Given the description of an element on the screen output the (x, y) to click on. 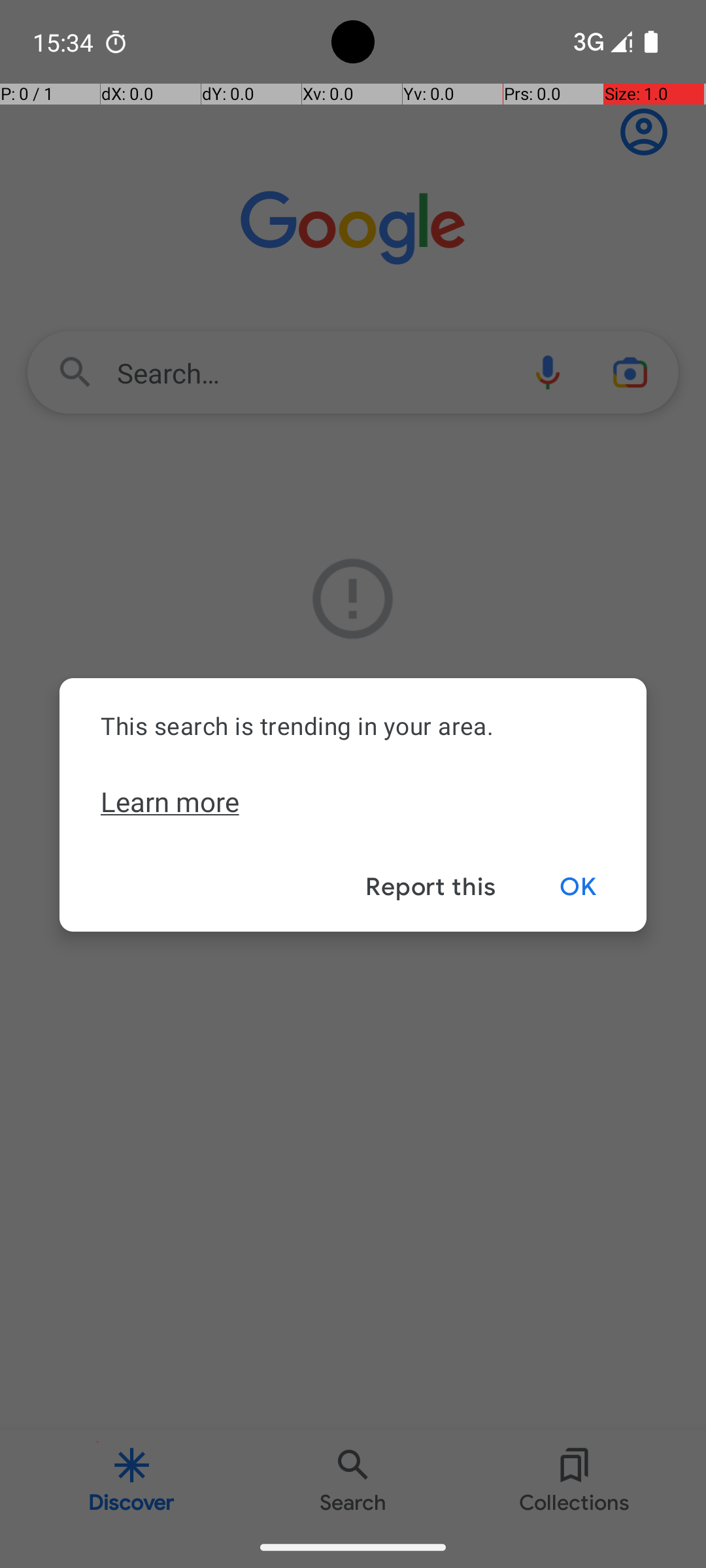
This search is trending in your area. Element type: android.widget.TextView (352, 725)
Report this Element type: android.widget.Button (430, 887)
